Given the description of an element on the screen output the (x, y) to click on. 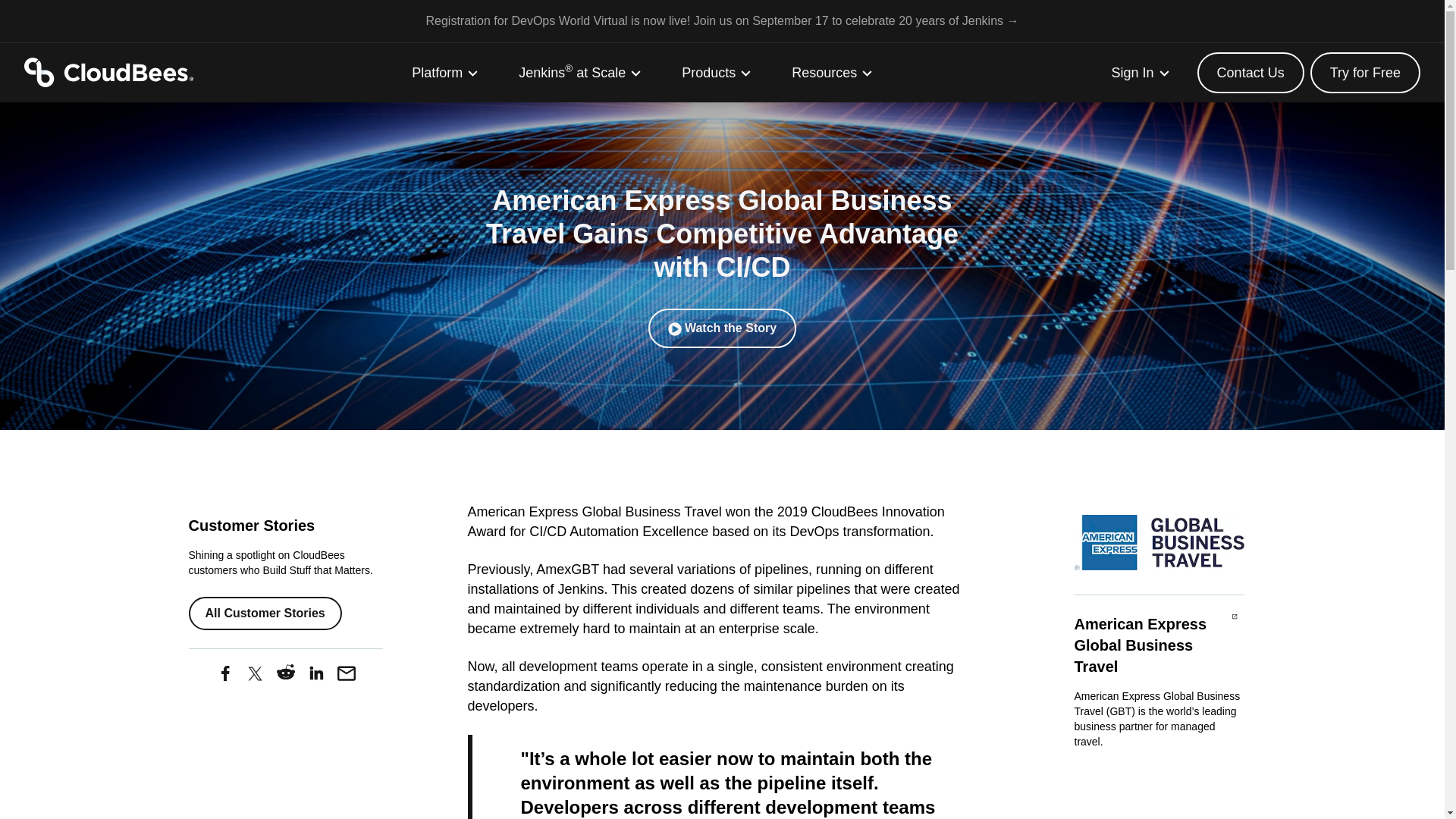
Products (716, 72)
American Express Global Business Travel (1158, 542)
Platform (445, 72)
